Given the description of an element on the screen output the (x, y) to click on. 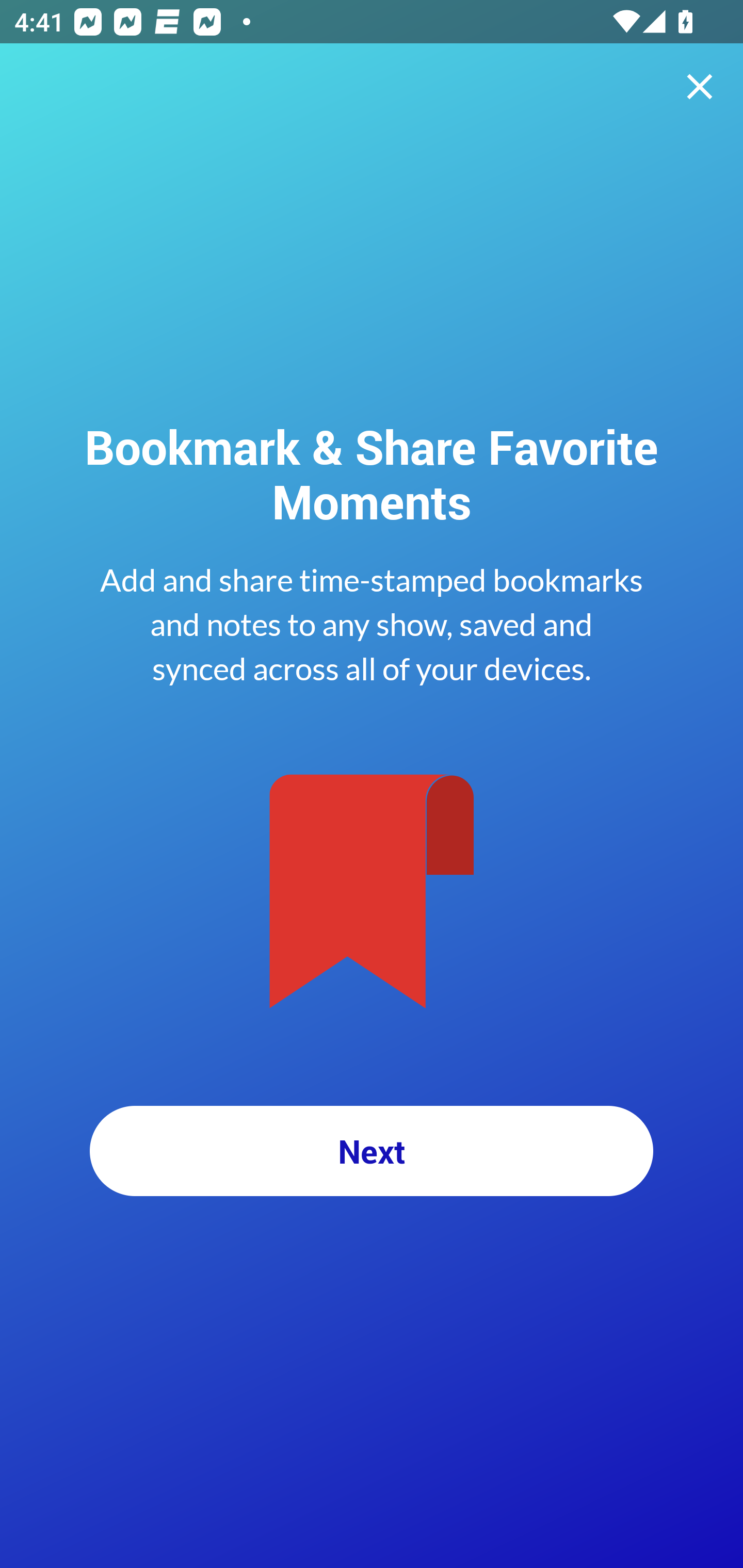
Close dialog (699, 86)
Next (371, 1150)
